Given the description of an element on the screen output the (x, y) to click on. 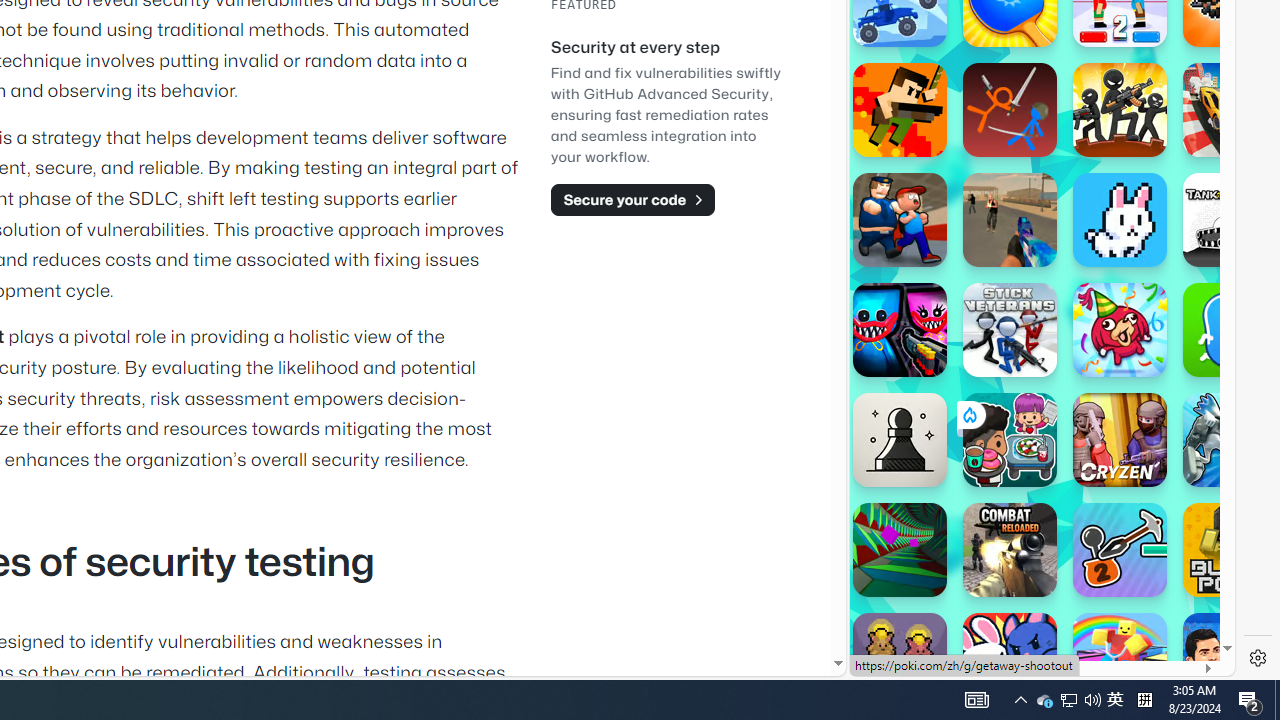
Cryzen.io Cryzen.io (1119, 439)
Escape From School Escape From School (899, 219)
Football Legends (1229, 659)
Click to scroll right (1196, 247)
Search results from poki.com (1005, 59)
Stickman Fight: Ragdoll Stickman Fight: Ragdoll (1009, 109)
G-Switch 4 (1229, 439)
Escape From School (899, 219)
Animal Arena Animal Arena (1009, 659)
Stickman Climb 2 Stickman Climb 2 (1119, 549)
Goober World Goober World (1229, 329)
Blockpost (1229, 549)
Poor Bunny Poor Bunny (1119, 219)
Cave Chaos (899, 659)
Classic Chess Classic Chess (899, 439)
